Given the description of an element on the screen output the (x, y) to click on. 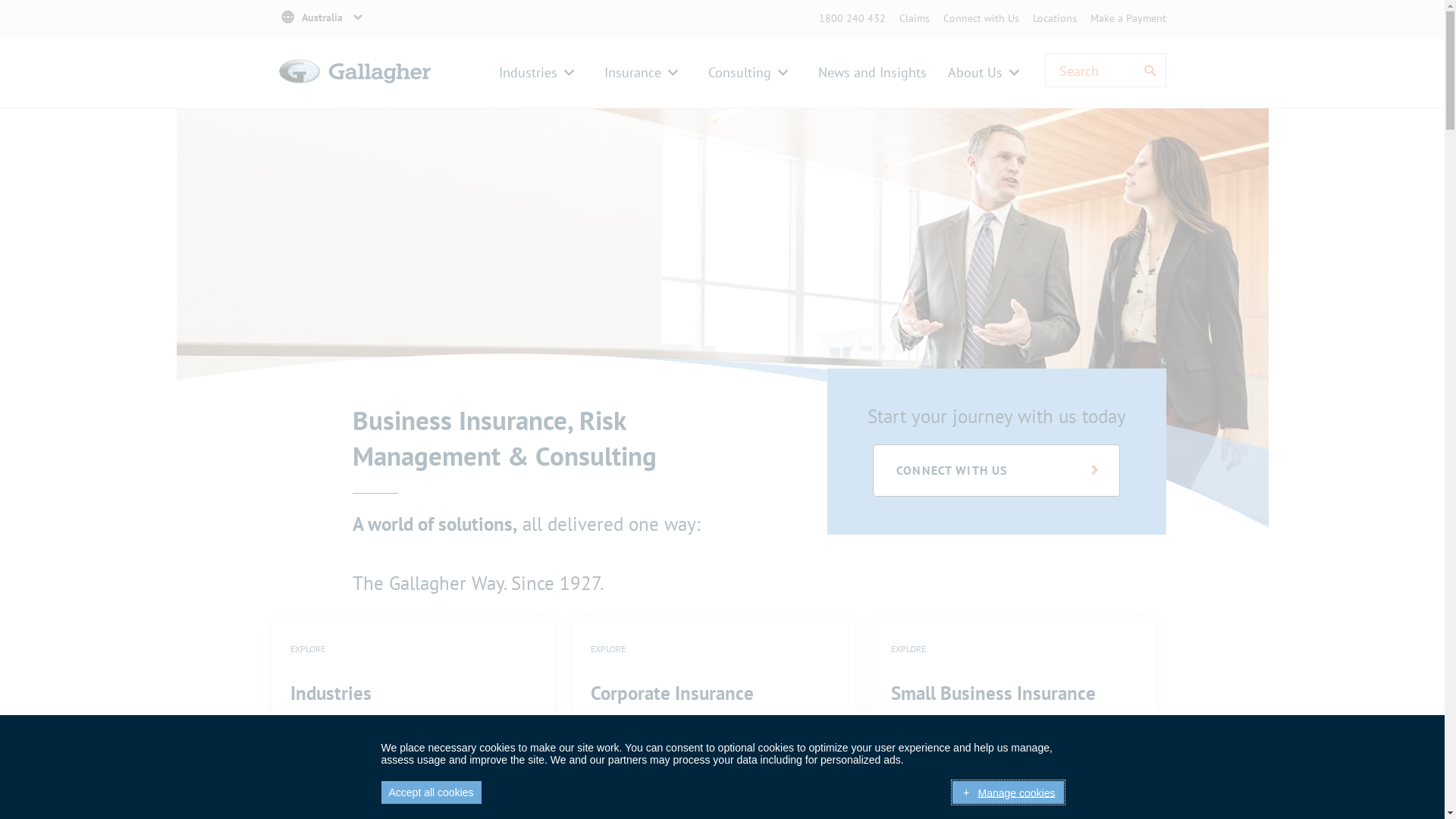
Manage cookies Element type: text (1007, 792)
Gallagher Australia Element type: hover (354, 89)
CONNECT WITH US Element type: text (996, 470)
Claims Element type: text (914, 18)
Make a Payment Element type: text (1128, 18)
Locations Element type: text (1054, 18)
Connect with Us Element type: text (981, 18)
News and Insights Element type: text (871, 73)
Accept all cookies Element type: text (430, 792)
1800 240 432 Element type: text (852, 18)
